Given the description of an element on the screen output the (x, y) to click on. 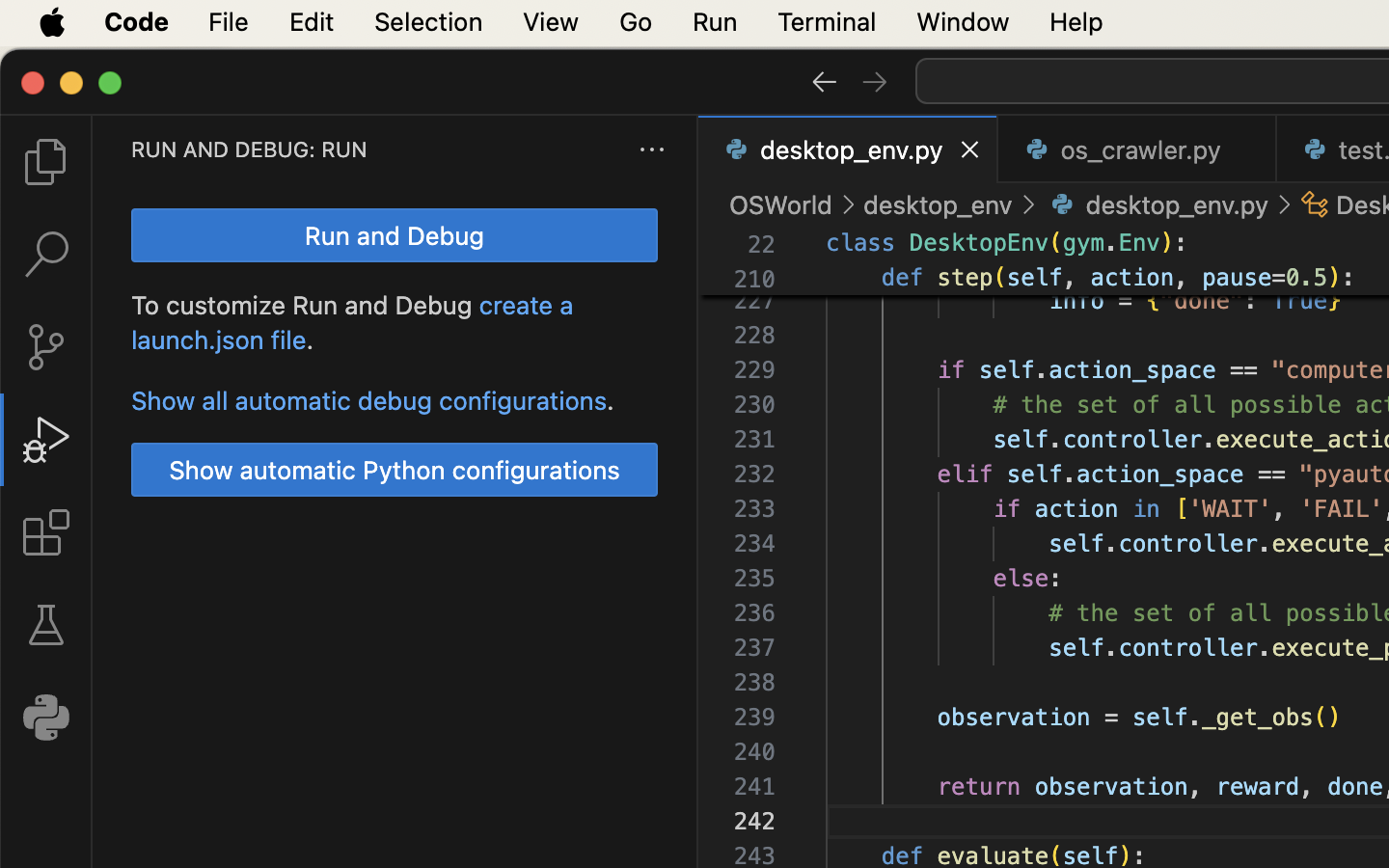
self Element type: AXStaticText (1034, 277)
desktop_env.py  Element type: AXGroup (1156, 204)
pause Element type: AXStaticText (1237, 277)
 Element type: AXButton (874, 80)
To customize Run and Debug Element type: AXStaticText (305, 305)
